Given the description of an element on the screen output the (x, y) to click on. 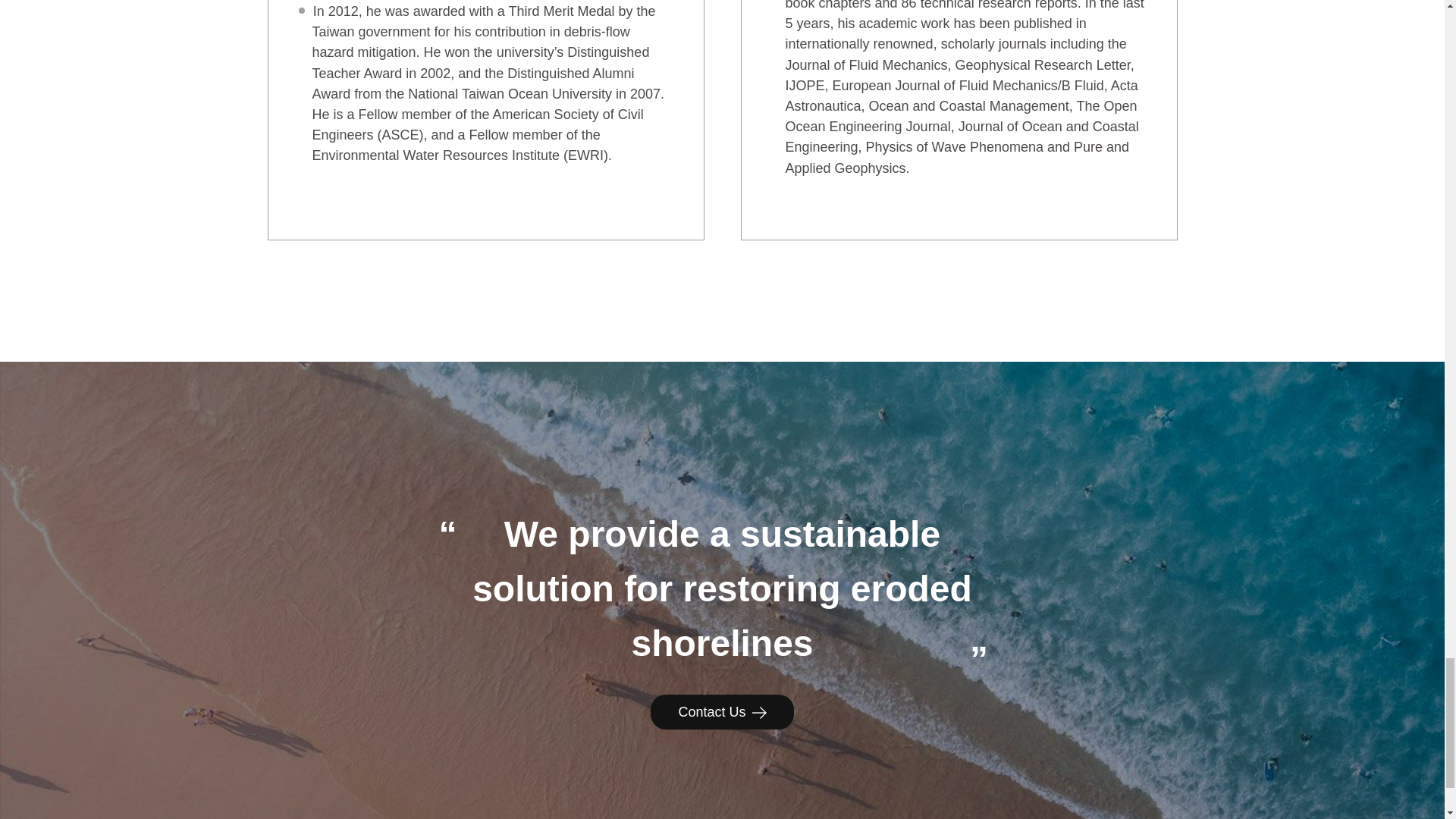
Contact Us (721, 711)
